Given the description of an element on the screen output the (x, y) to click on. 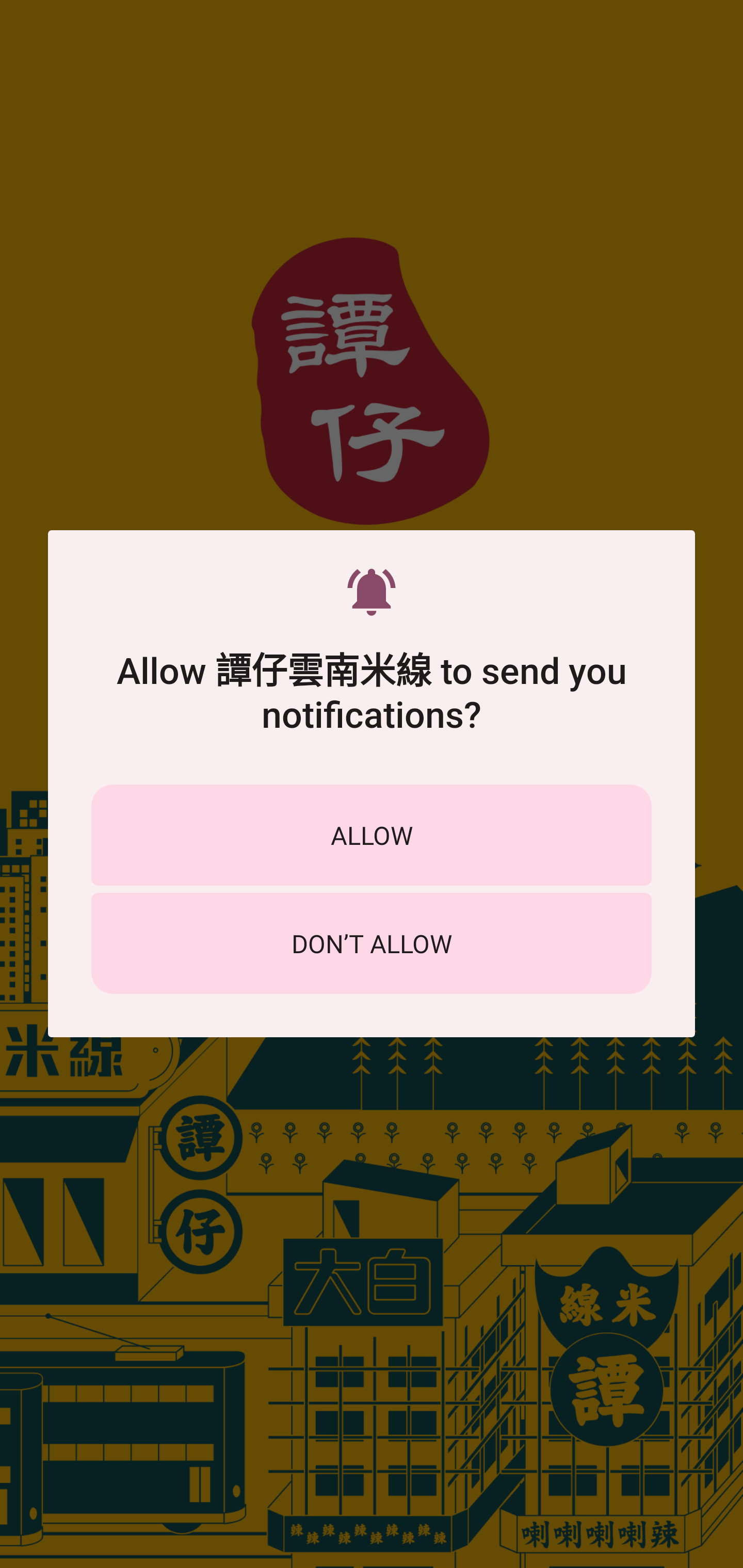
ALLOW (371, 834)
DON’T ALLOW (371, 943)
